Given the description of an element on the screen output the (x, y) to click on. 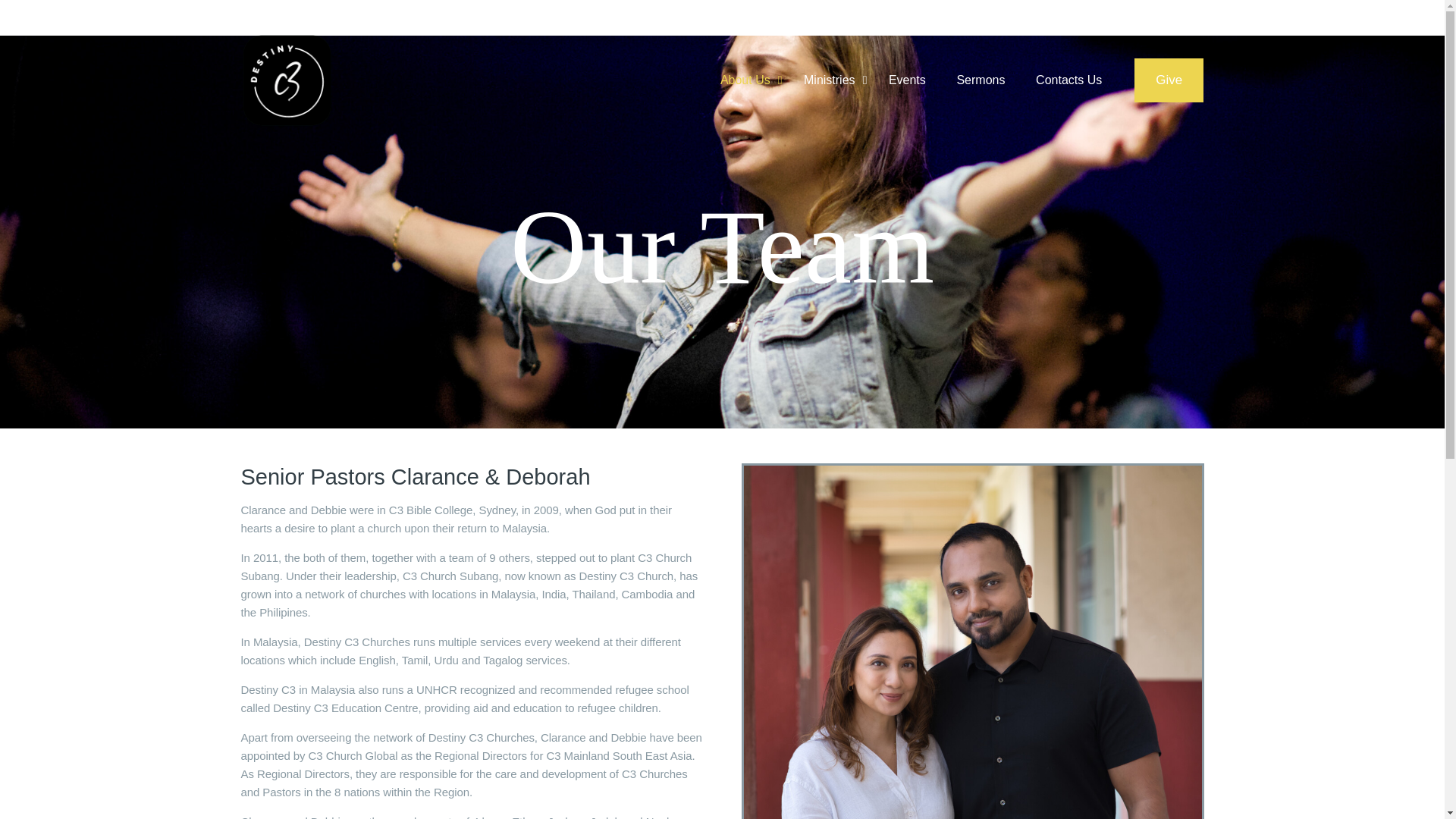
About Us (746, 79)
Sermons (980, 79)
Give (1169, 80)
Contacts Us (1069, 79)
Ministries (831, 79)
Events (907, 79)
